Given the description of an element on the screen output the (x, y) to click on. 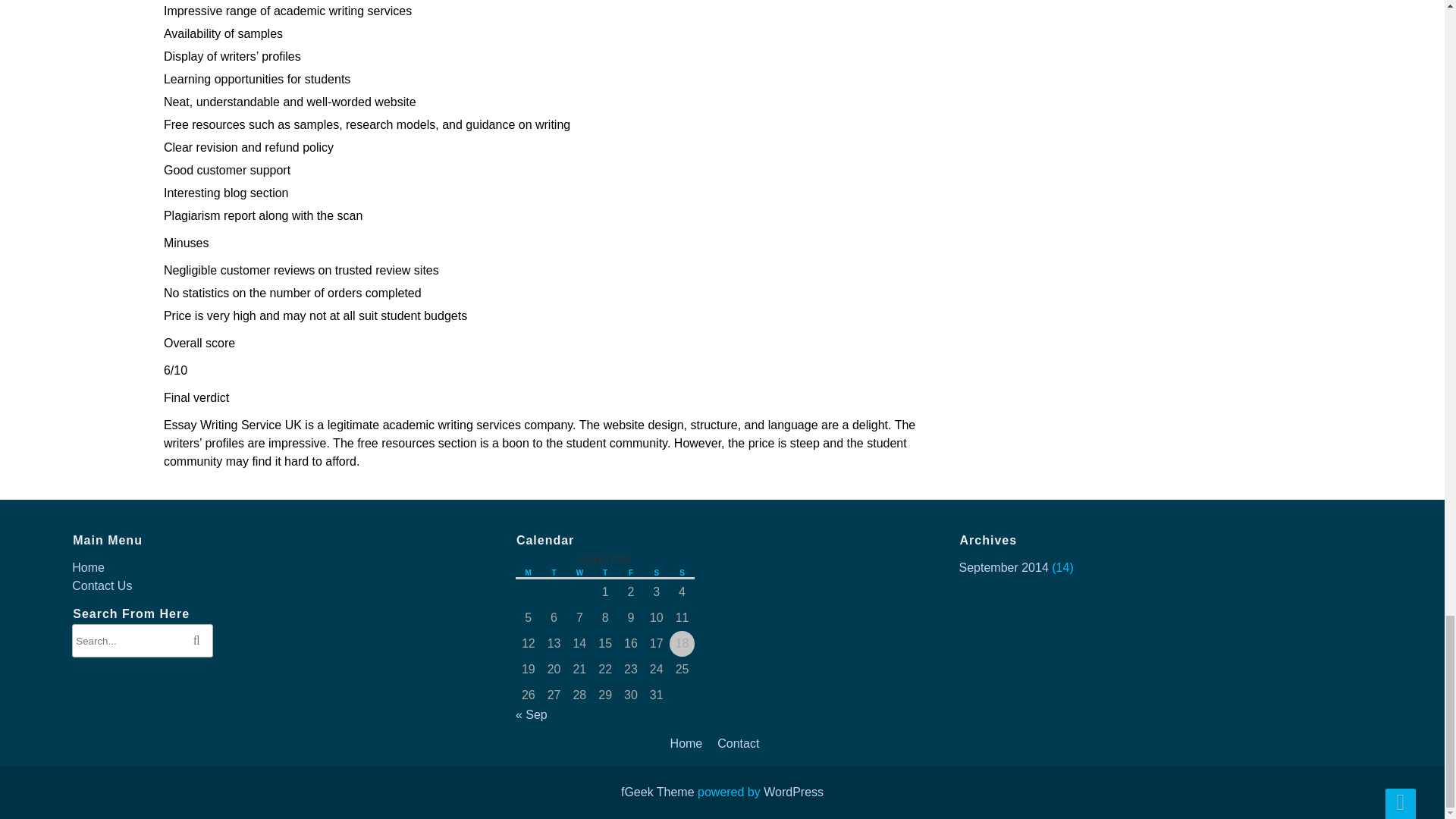
Contact (737, 743)
WordPress (793, 791)
Wednesday (579, 573)
Monday (528, 573)
Contact Us (101, 585)
Sunday (682, 573)
Saturday (656, 573)
Home (87, 567)
fgeek Theme (657, 791)
Home (686, 743)
